Given the description of an element on the screen output the (x, y) to click on. 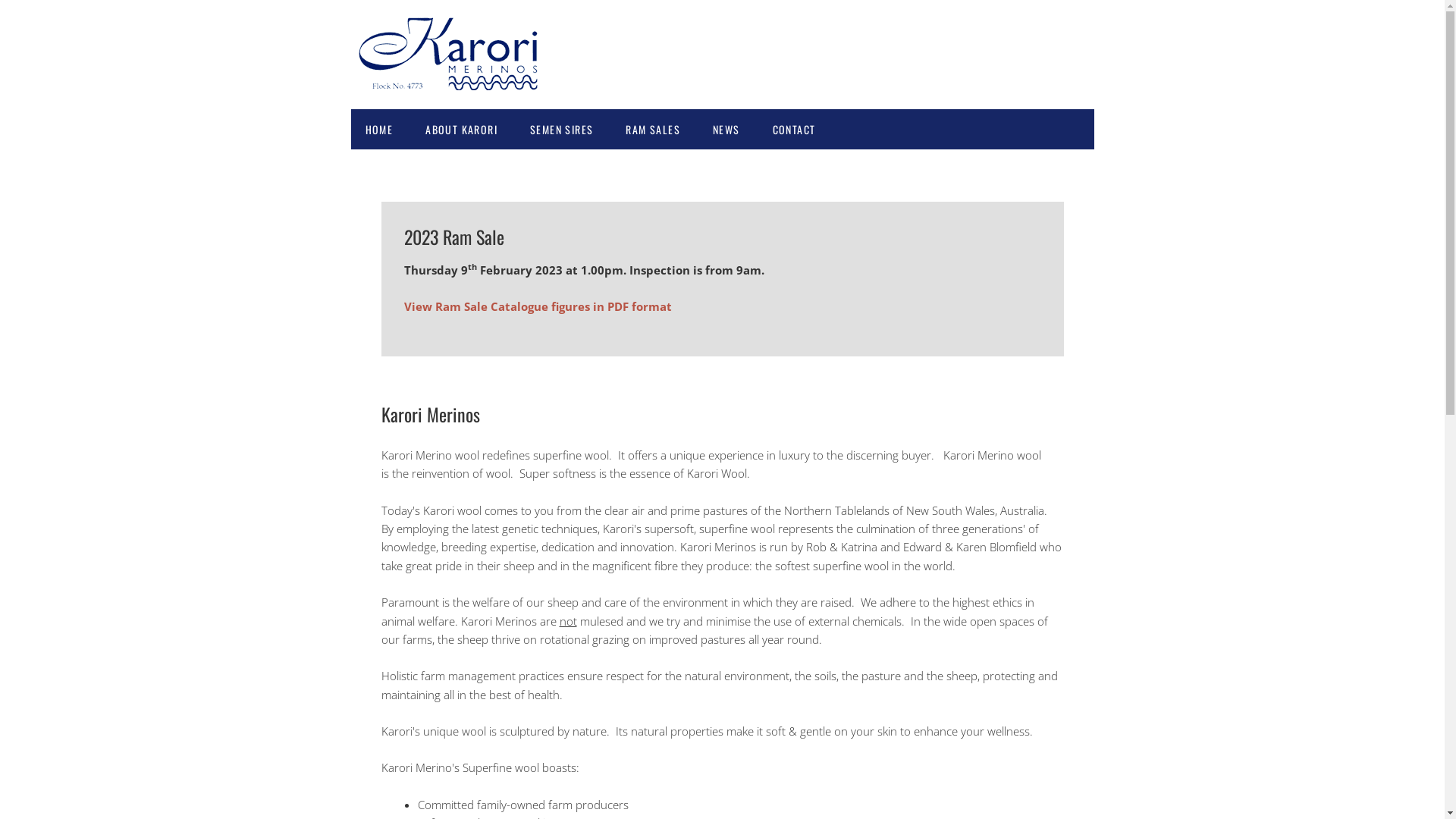
HOME Element type: text (378, 129)
CONTACT Element type: text (794, 129)
SEMEN SIRES Element type: text (561, 129)
RAM SALES Element type: text (652, 129)
ABOUT KARORI Element type: text (461, 129)
View Ram Sale Catalogue figures in PDF format Element type: text (537, 305)
NEWS Element type: text (726, 129)
Karori Element type: hover (453, 76)
